Given the description of an element on the screen output the (x, y) to click on. 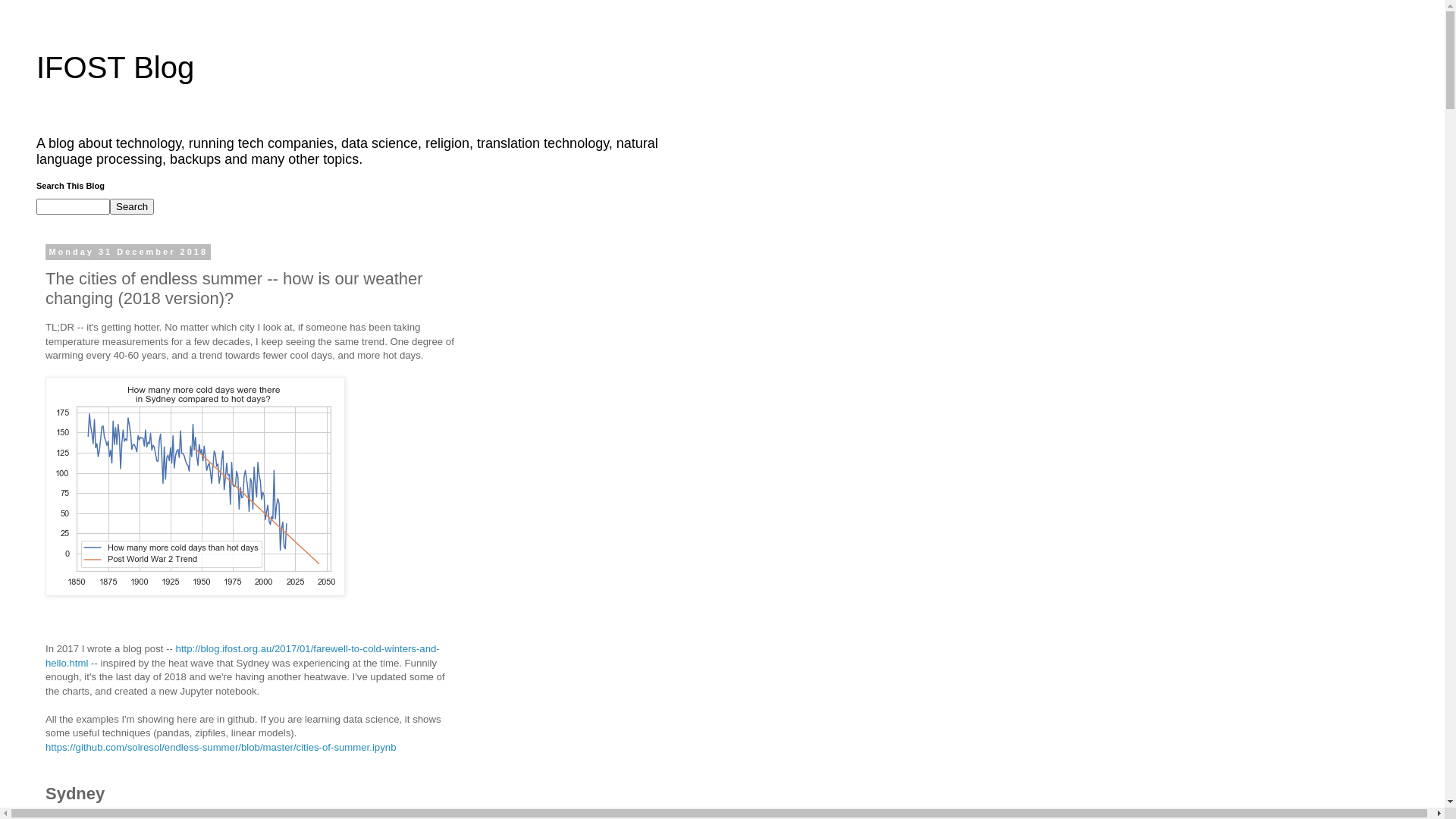
Search Element type: text (131, 206)
search Element type: hover (131, 206)
search Element type: hover (72, 206)
IFOST Blog Element type: text (115, 67)
